Given the description of an element on the screen output the (x, y) to click on. 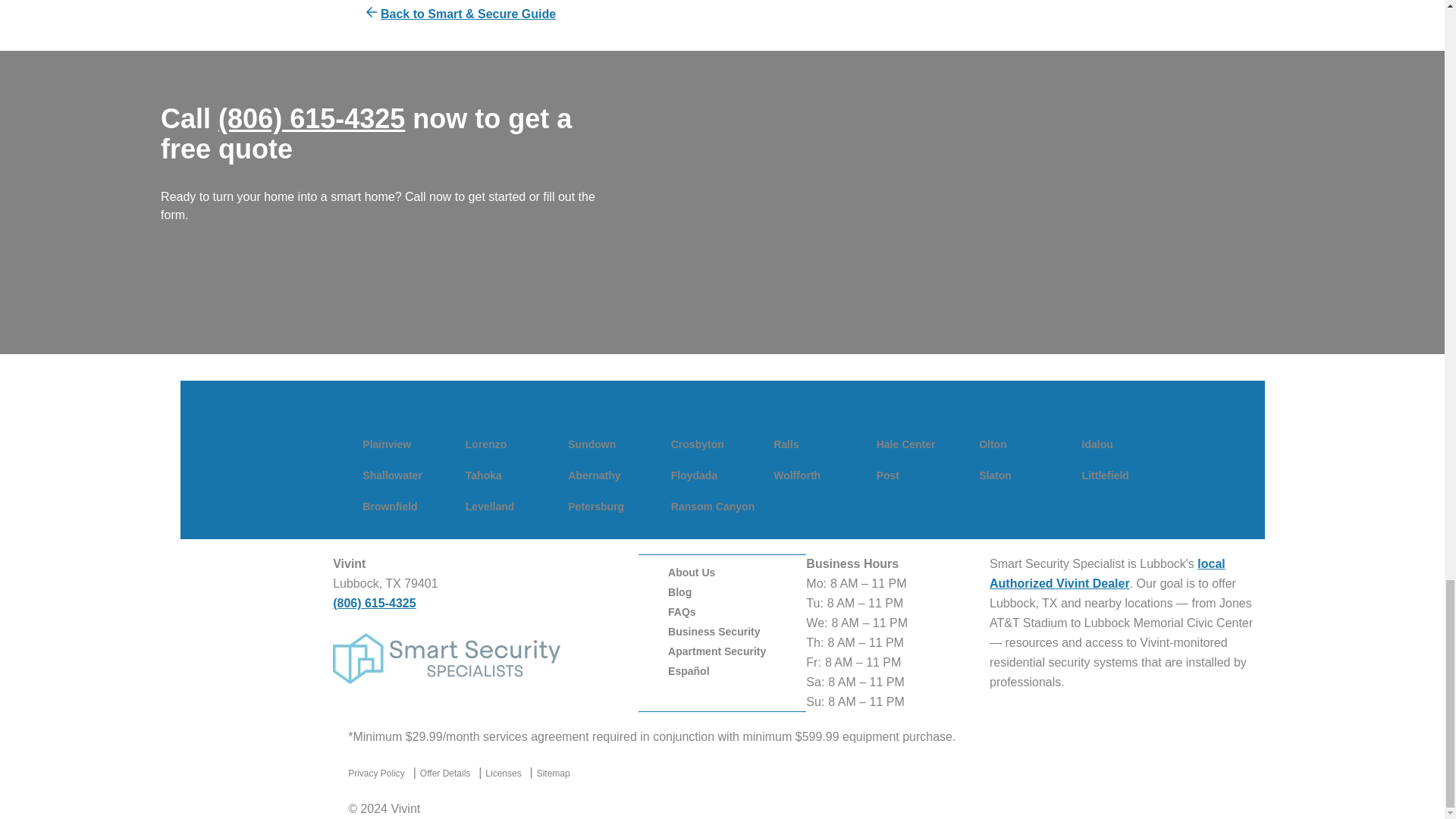
Plainview (386, 444)
